Given the description of an element on the screen output the (x, y) to click on. 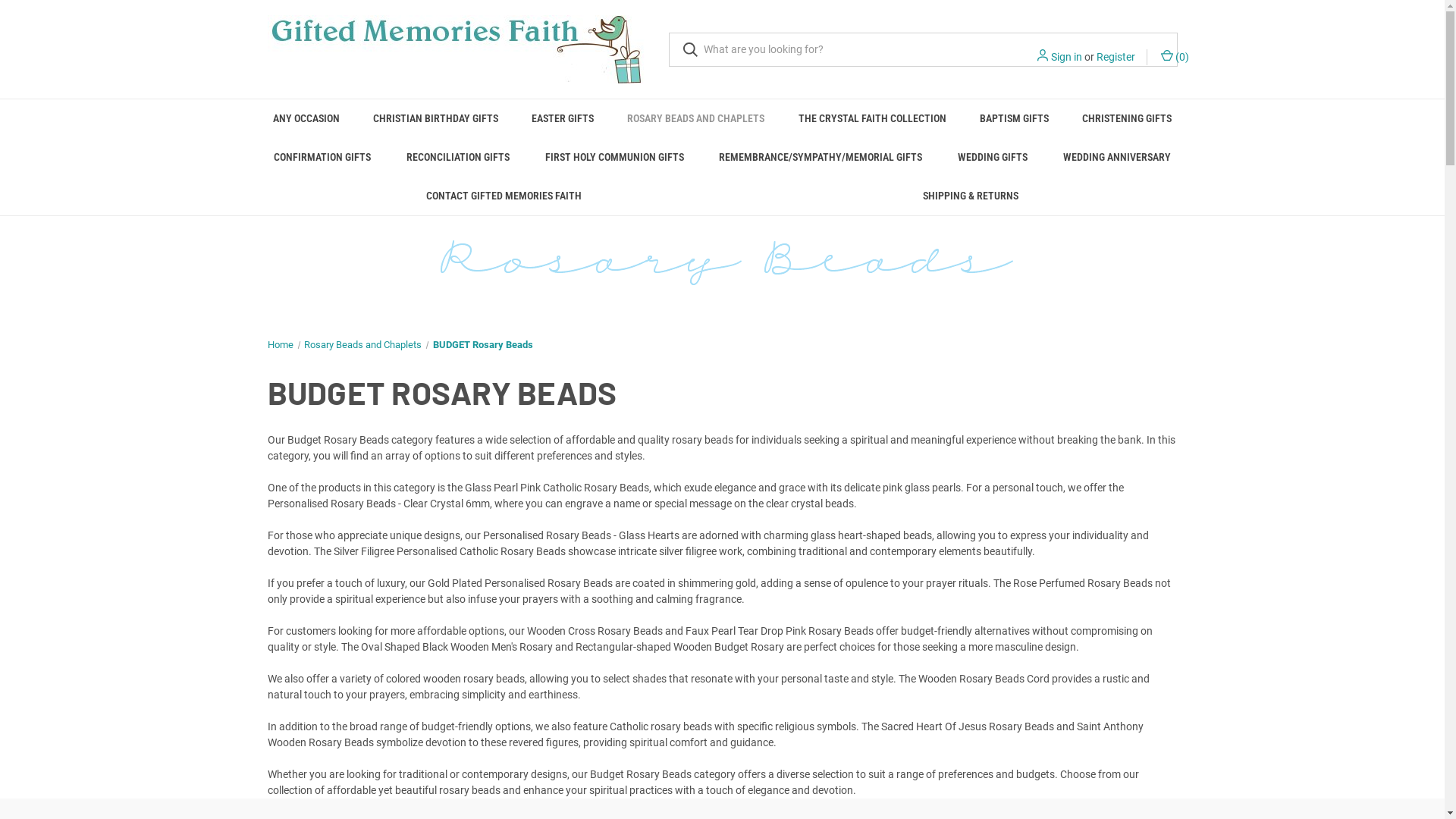
WEDDING GIFTS Element type: text (992, 157)
ANY OCCASION Element type: text (306, 118)
CONTACT GIFTED MEMORIES FAITH Element type: text (504, 195)
Rosary Beads and Chaplets Element type: text (362, 344)
WEDDING ANNIVERSARY Element type: text (1117, 157)
FIRST HOLY COMMUNION GIFTS Element type: text (614, 157)
THE CRYSTAL FAITH COLLECTION Element type: text (872, 118)
Home Element type: text (279, 344)
(0) Element type: text (1173, 57)
Sign in Element type: text (1066, 57)
CHRISTIAN BIRTHDAY GIFTS Element type: text (435, 118)
EASTER GIFTS Element type: text (562, 118)
RECONCILIATION GIFTS Element type: text (457, 157)
CHRISTENING GIFTS Element type: text (1126, 118)
ROSARY BEADS AND CHAPLETS Element type: text (695, 118)
Register Element type: text (1115, 57)
BAPTISM GIFTS Element type: text (1014, 118)
REMEMBRANCE/SYMPATHY/MEMORIAL GIFTS Element type: text (820, 157)
Gifted Memories Faith Element type: hover (455, 49)
CONFIRMATION GIFTS Element type: text (322, 157)
SHIPPING & RETURNS Element type: text (970, 195)
BUDGET Rosary Beads Element type: text (482, 344)
